Given the description of an element on the screen output the (x, y) to click on. 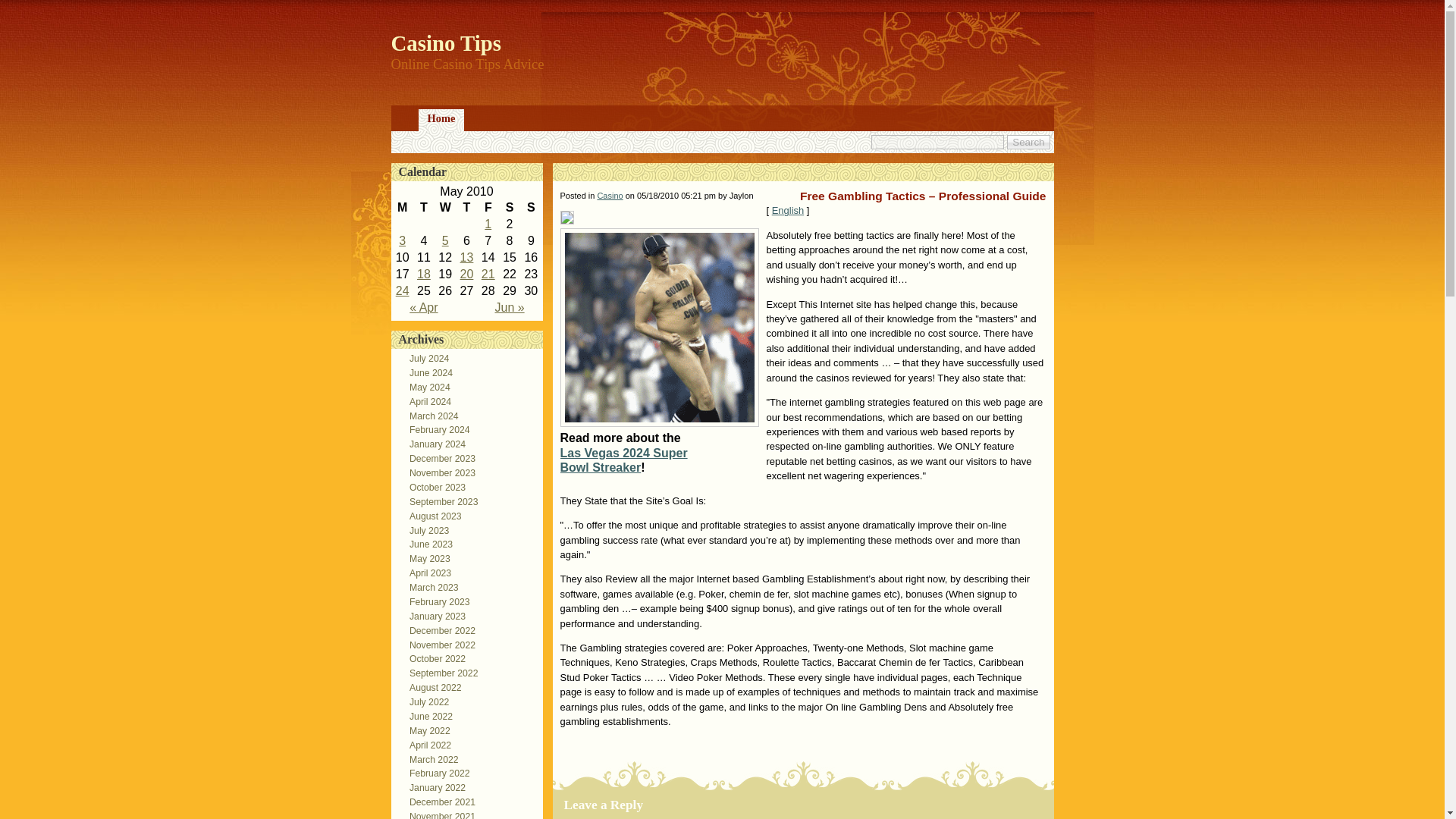
January 2024 (432, 443)
View posts for April 2010 (423, 307)
Search (1028, 142)
June 2023 (426, 543)
November 2022 (438, 644)
Saturday (509, 207)
October 2022 (432, 658)
February 2023 (435, 602)
Home (441, 119)
Thursday (466, 207)
June 2022 (426, 716)
July 2022 (424, 701)
24 (402, 290)
Tuesday (423, 207)
